Given the description of an element on the screen output the (x, y) to click on. 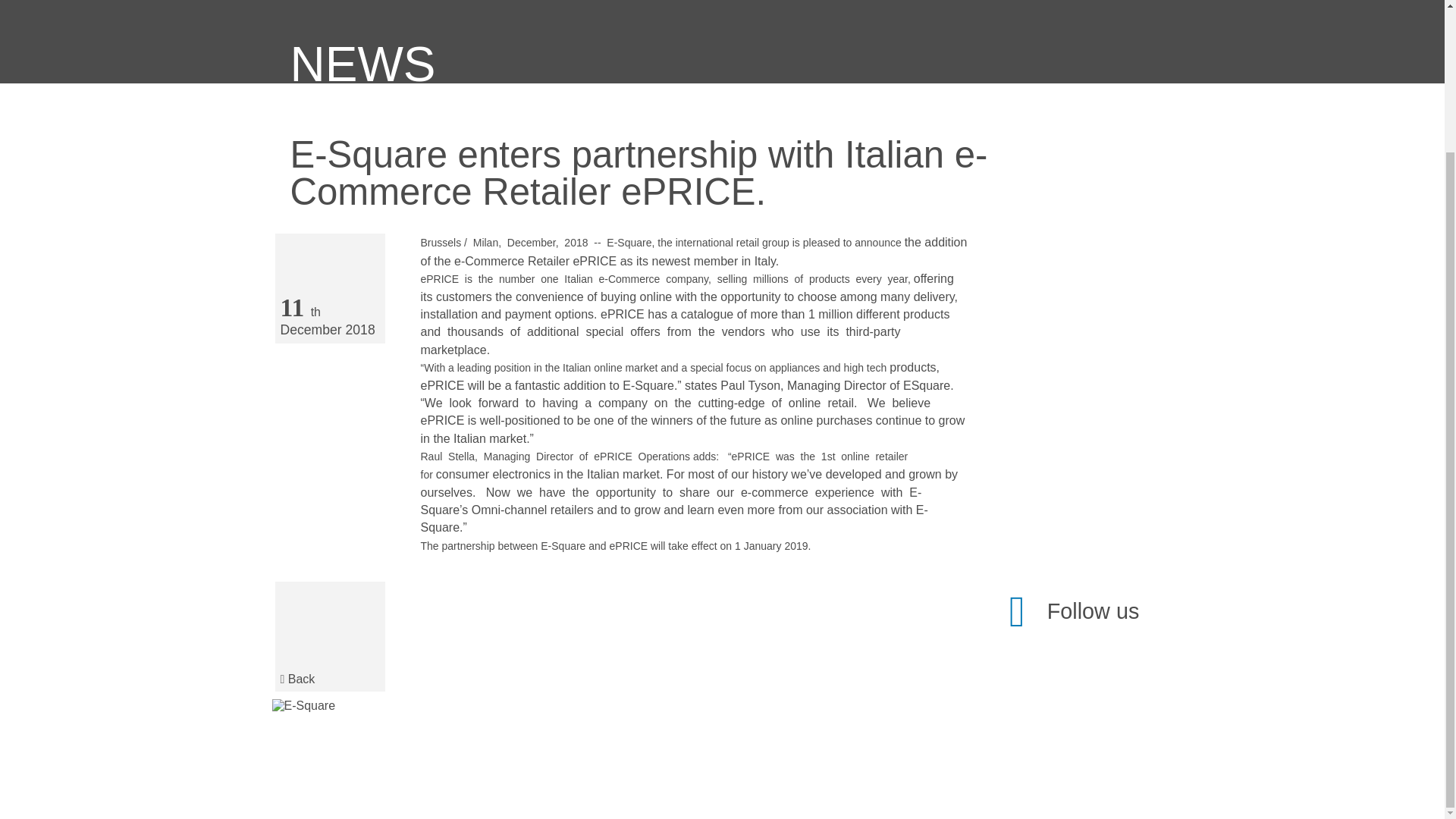
Follow us (1074, 611)
Back (329, 636)
Follow us (1074, 611)
E-Square (304, 705)
E-Square (302, 705)
